Given the description of an element on the screen output the (x, y) to click on. 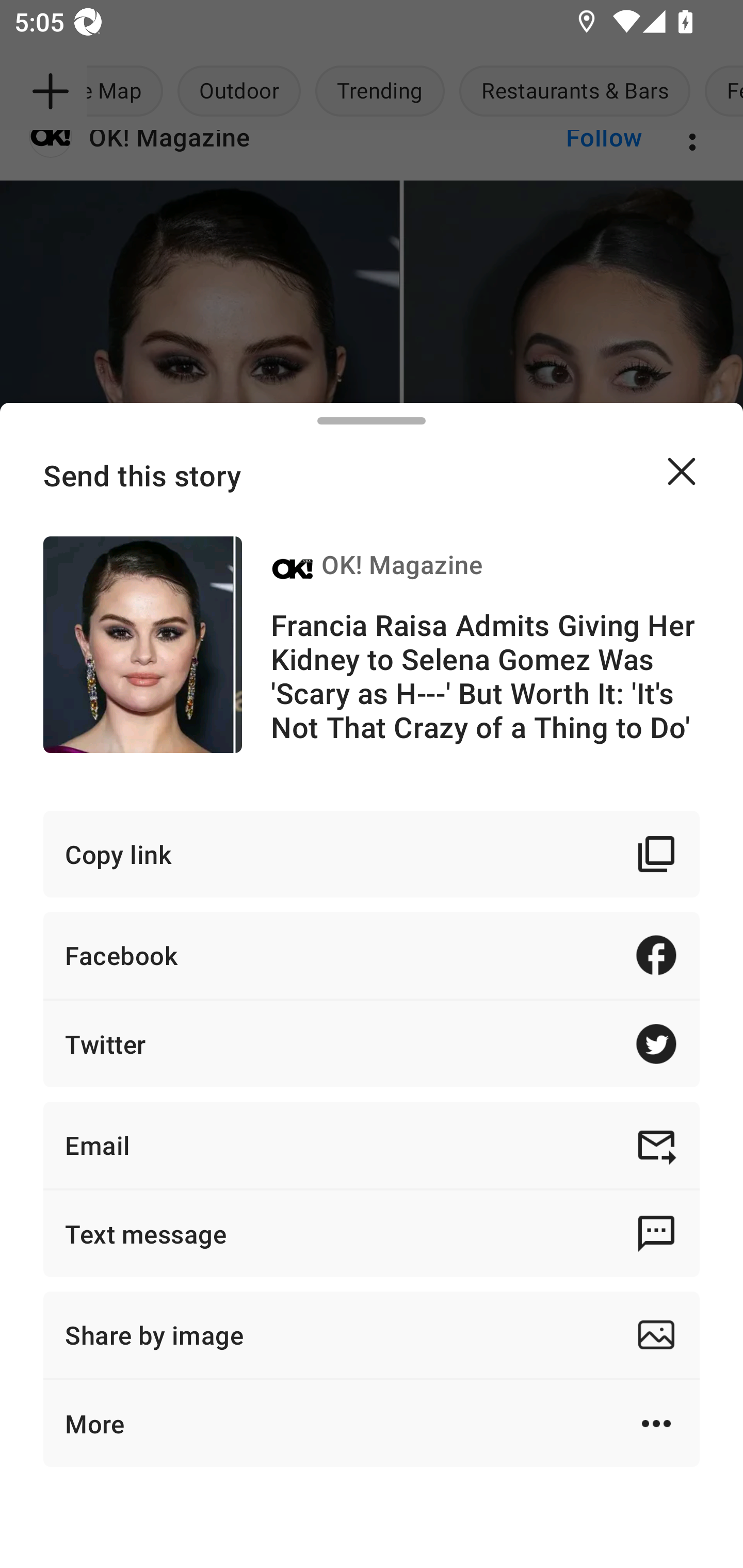
Copy link (371, 853)
Facebook (371, 955)
Twitter (371, 1043)
Email (371, 1145)
Text message (371, 1233)
Share by image (371, 1335)
More (371, 1423)
